Given the description of an element on the screen output the (x, y) to click on. 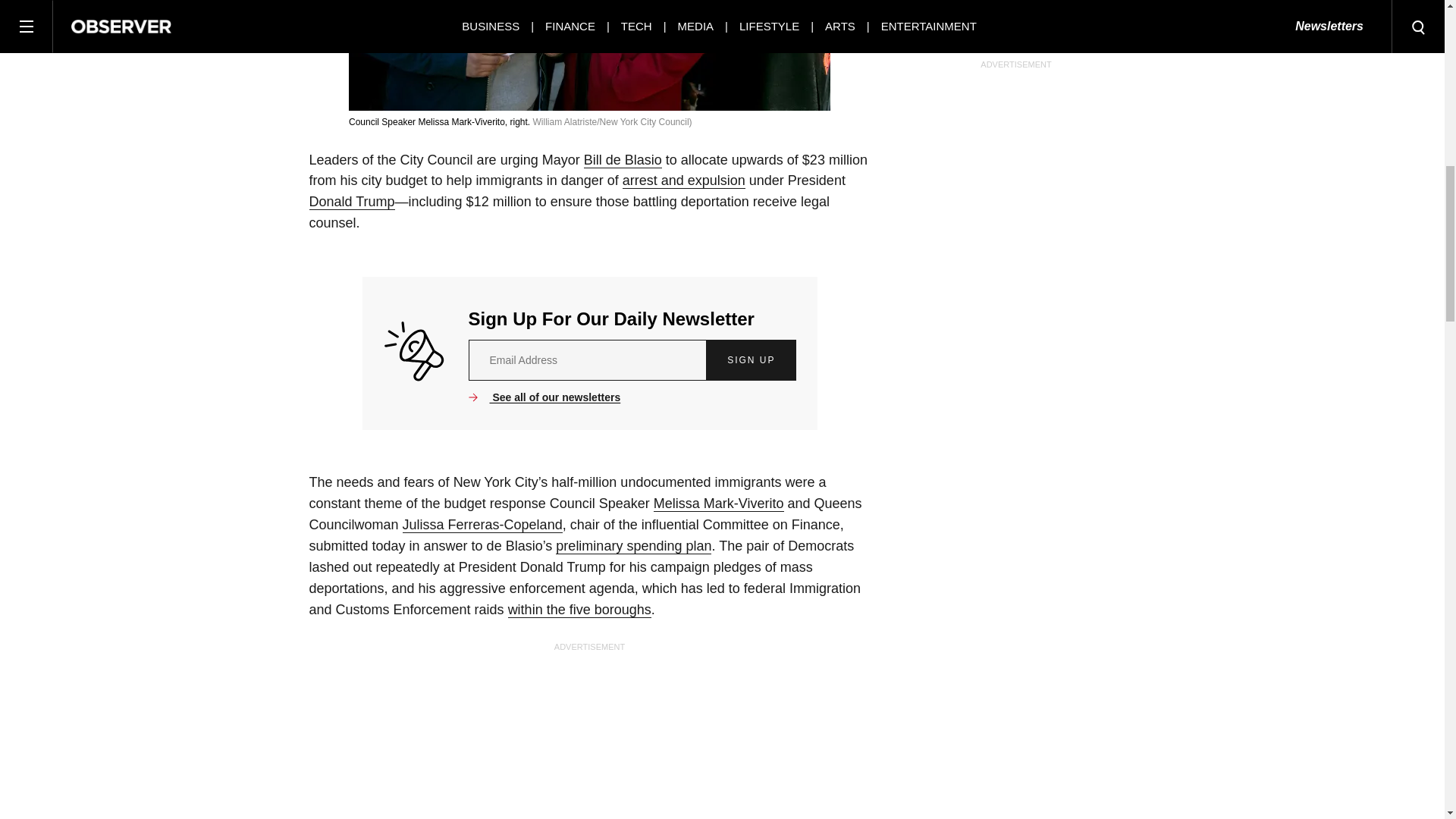
Bill de Blasio (622, 160)
Donald Trump (351, 201)
Melissa Mark-Viverito (718, 503)
Julissa Ferreras-Copeland (482, 524)
